Given the description of an element on the screen output the (x, y) to click on. 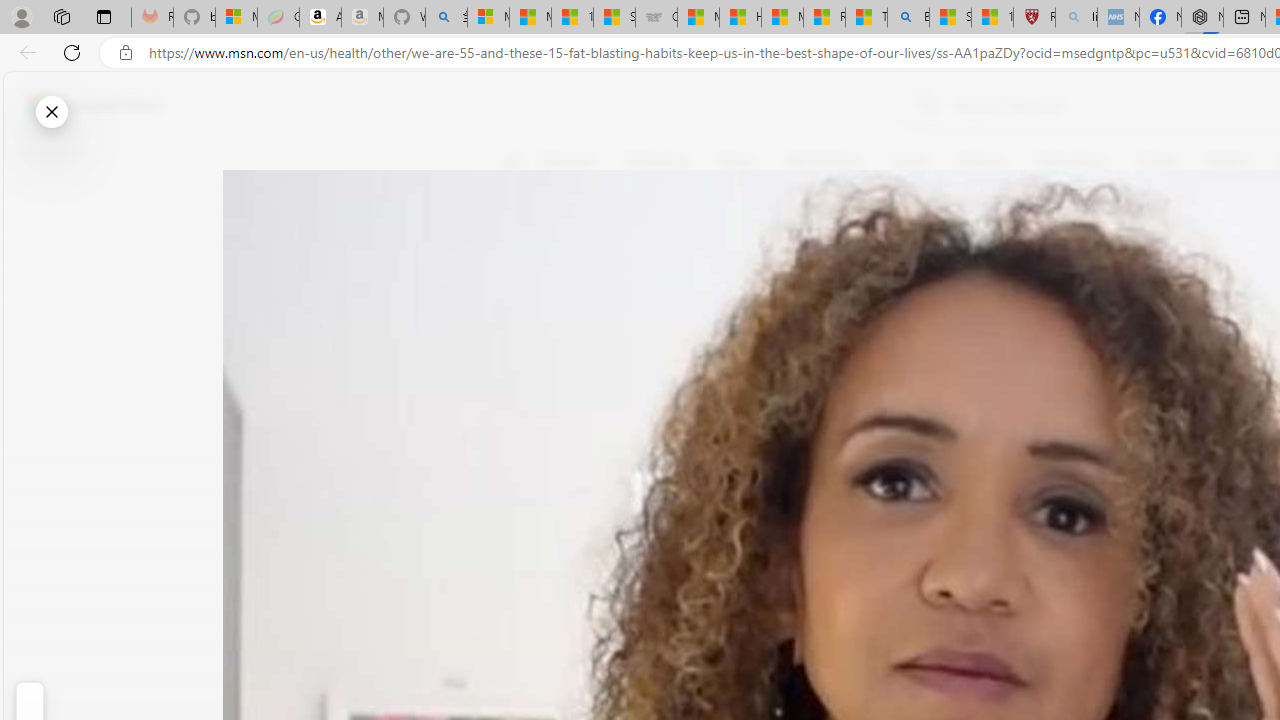
World News (824, 162)
Science - MSN (950, 17)
Nordace - Nordace Siena Is Not An Ordinary Backpack (1201, 17)
